Given the description of an element on the screen output the (x, y) to click on. 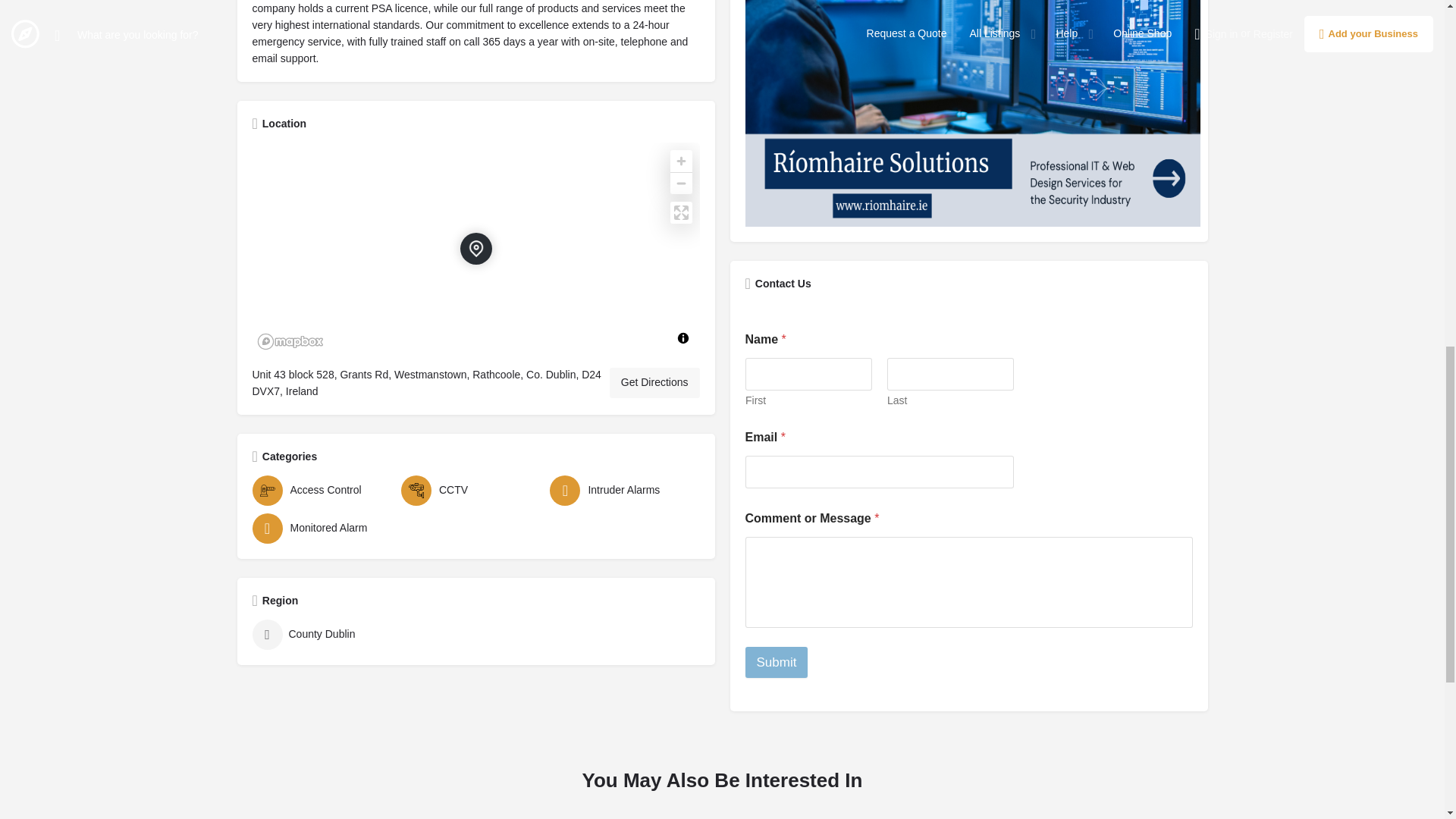
Zoom out (681, 182)
Zoom in (681, 160)
Enter fullscreen (681, 212)
